Given the description of an element on the screen output the (x, y) to click on. 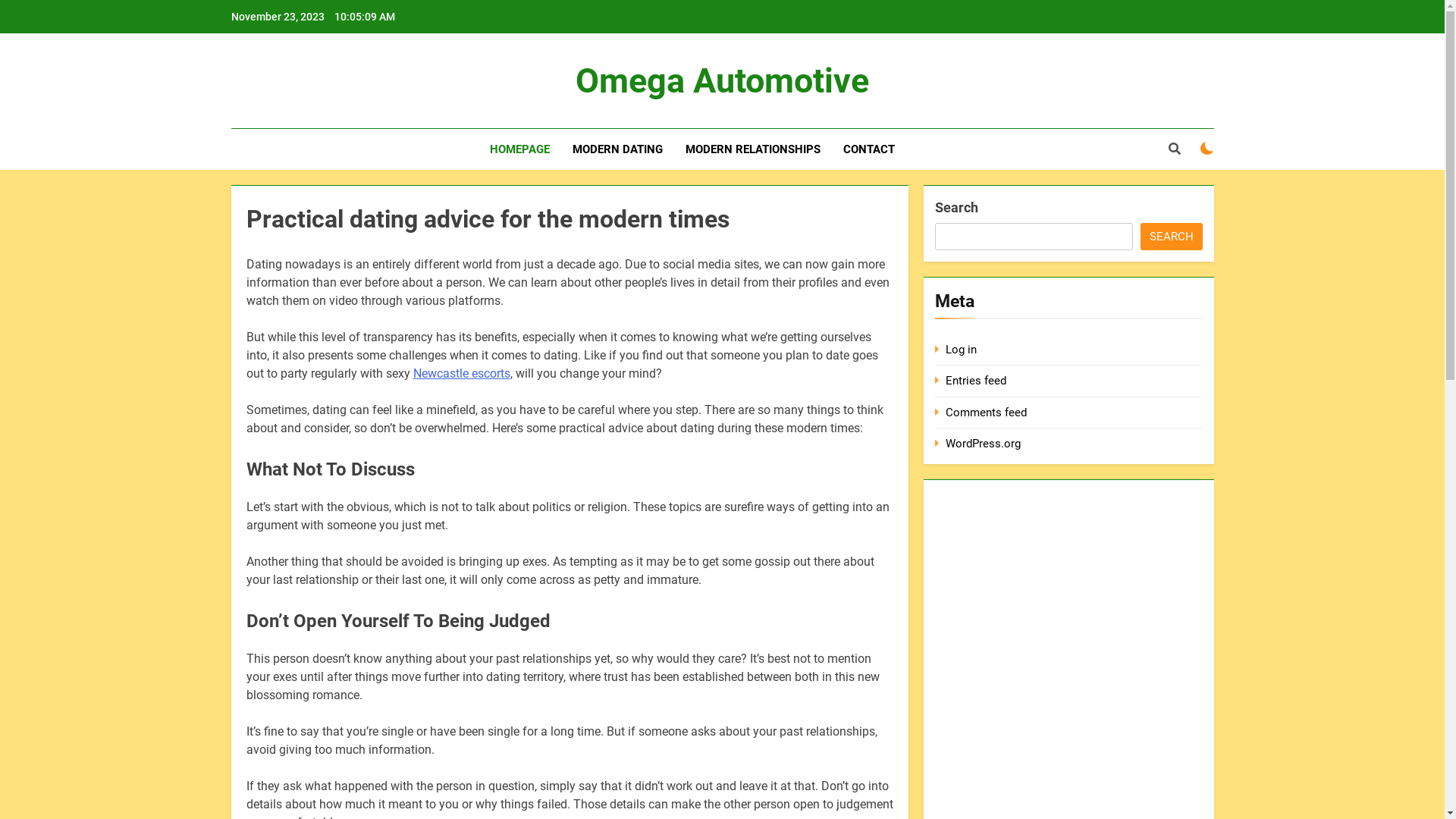
Entries feed Element type: text (975, 380)
CONTACT Element type: text (868, 148)
Newcastle escorts Element type: text (460, 373)
Omega Automotive Element type: text (722, 80)
Log in Element type: text (960, 349)
MODERN RELATIONSHIPS Element type: text (752, 148)
SEARCH Element type: text (1171, 236)
WordPress.org Element type: text (982, 443)
MODERN DATING Element type: text (617, 148)
HOMEPAGE Element type: text (519, 148)
Comments feed Element type: text (985, 412)
